Given the description of an element on the screen output the (x, y) to click on. 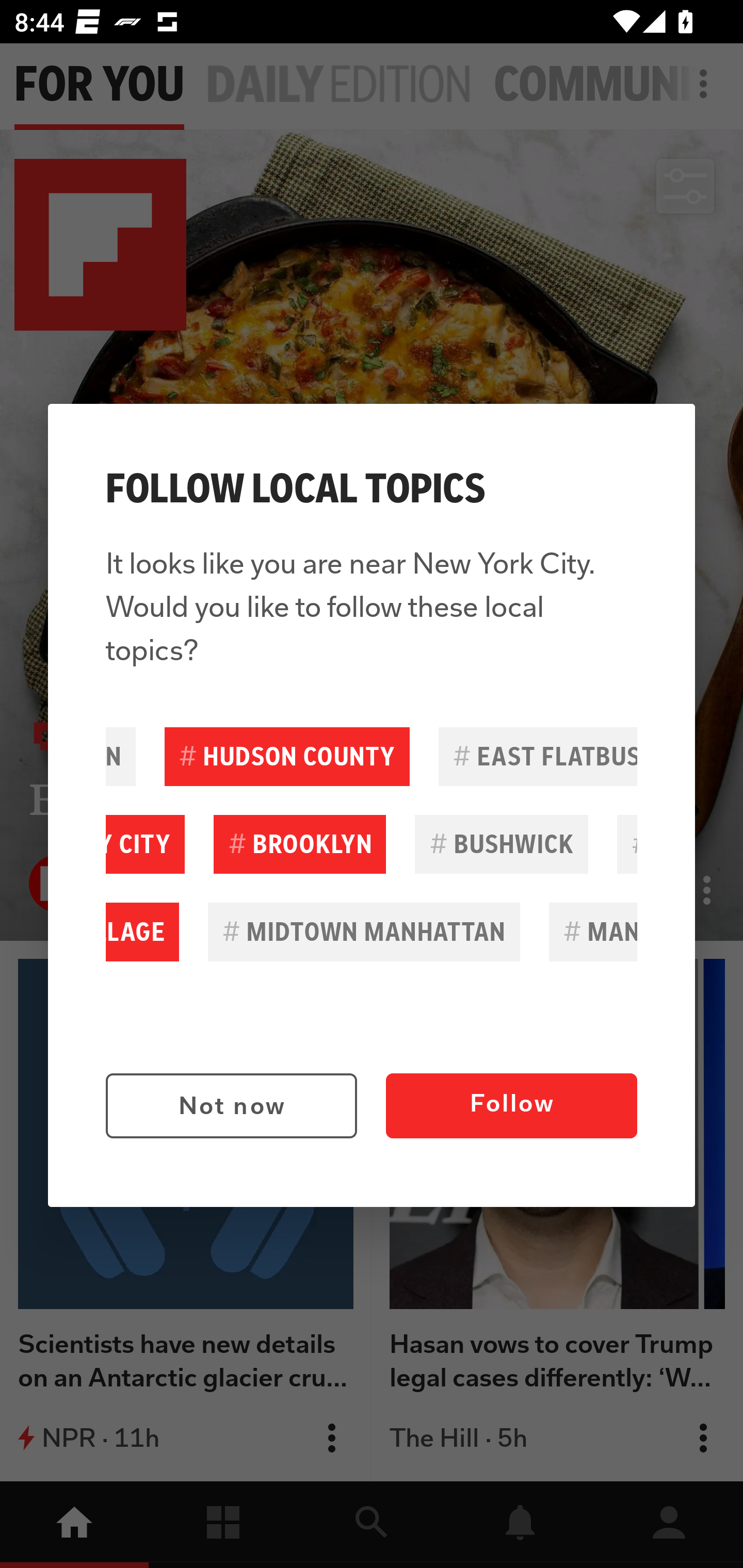
# HUDSON COUNTY (286, 756)
# EAST FLATBUSH (537, 756)
# JERSEY CITY (145, 844)
# BROOKLYN (299, 844)
# BUSHWICK (501, 844)
# GREENWICH VILLAGE (142, 932)
# MIDTOWN MANHATTAN (364, 932)
# MANHATTAN (593, 932)
Not now (231, 1106)
Follow (511, 1106)
